Given the description of an element on the screen output the (x, y) to click on. 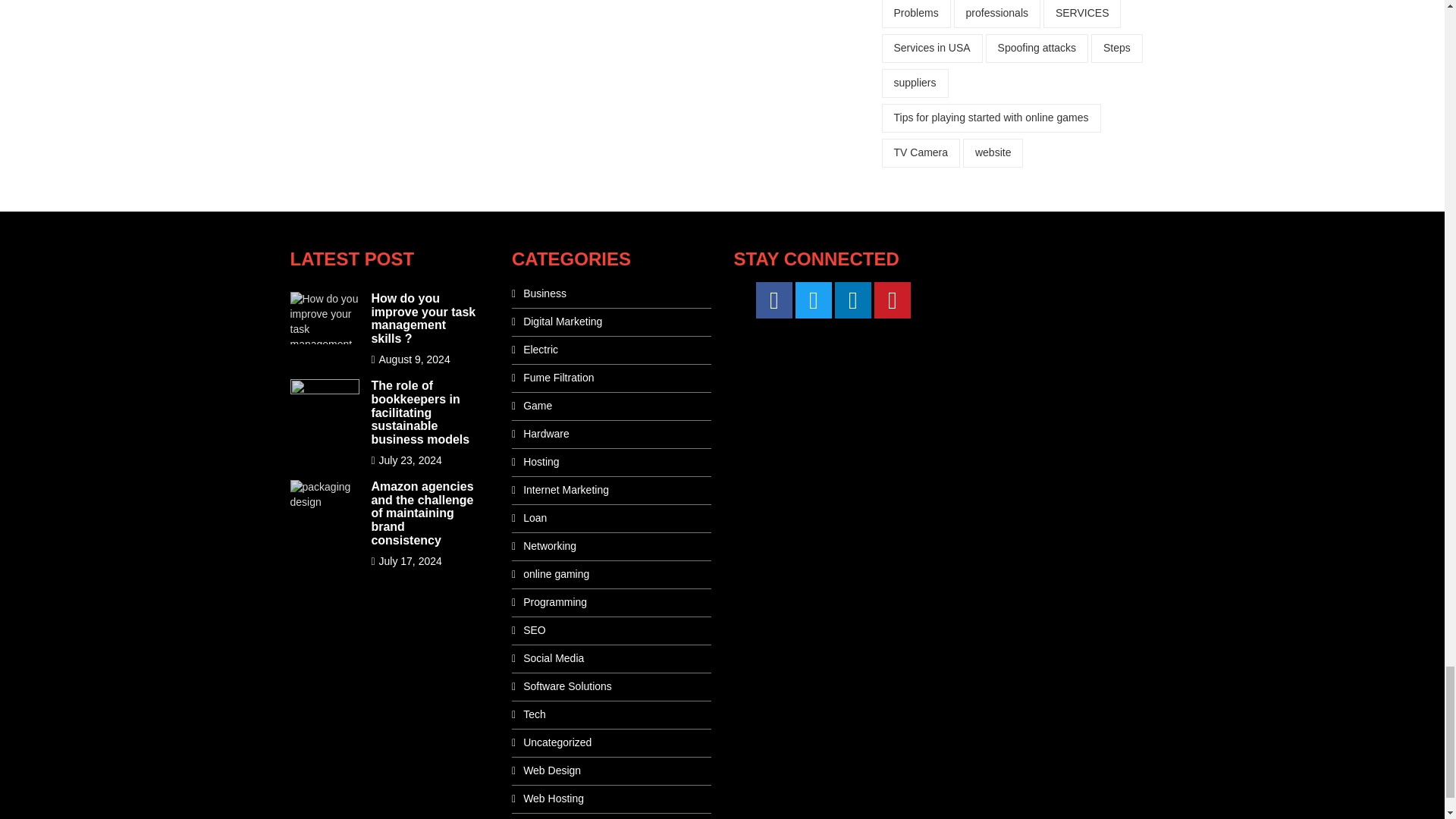
Pinterest (893, 299)
Twitter (812, 299)
LinkedIn (852, 299)
Facebook (773, 299)
